Given the description of an element on the screen output the (x, y) to click on. 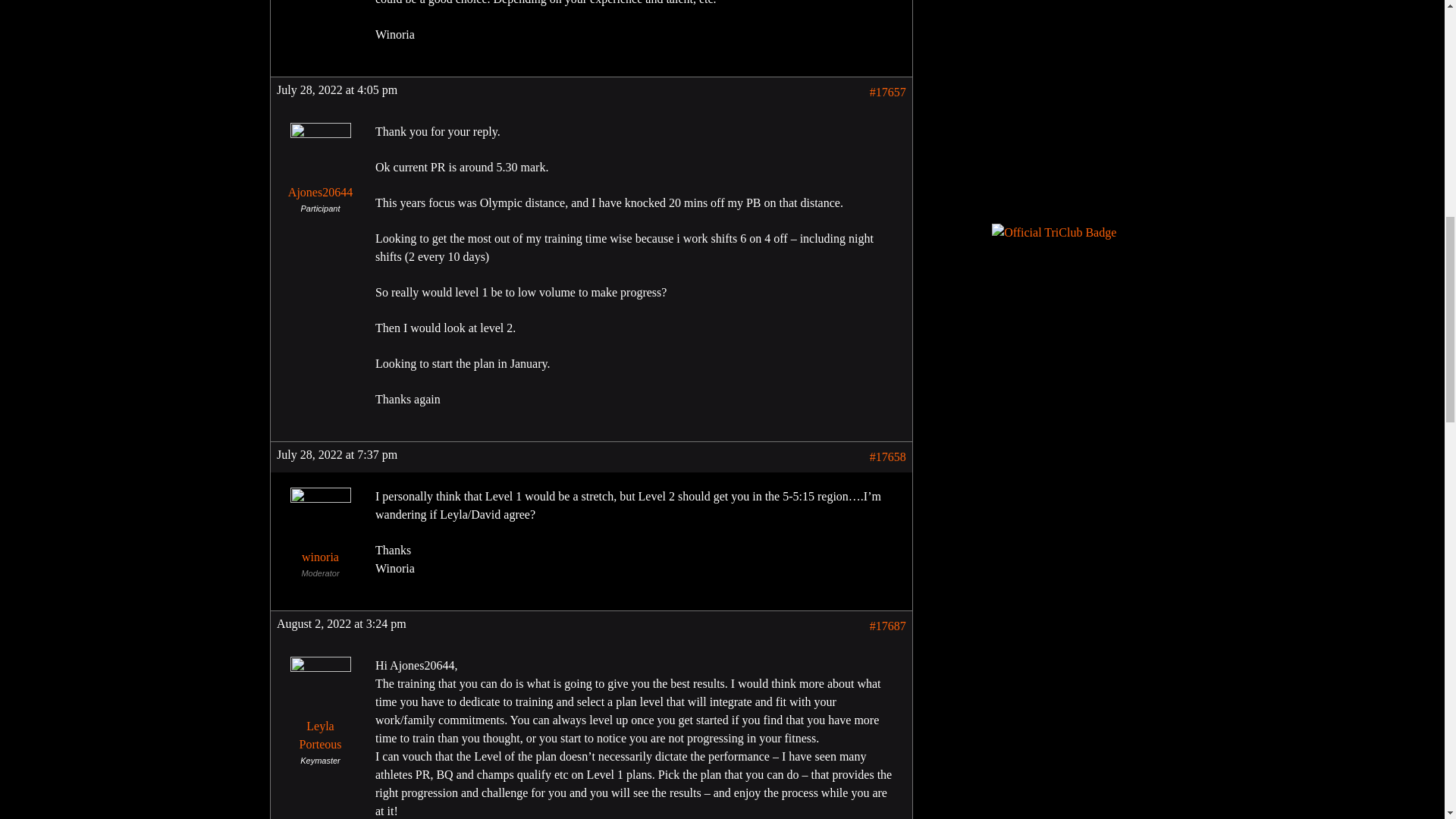
Ajones20644 (320, 164)
View Ajones20644's profile (320, 164)
View winoria's profile (320, 529)
View Leyla Porteous's profile (320, 706)
winoria (320, 529)
Leyla Porteous (320, 706)
